Given the description of an element on the screen output the (x, y) to click on. 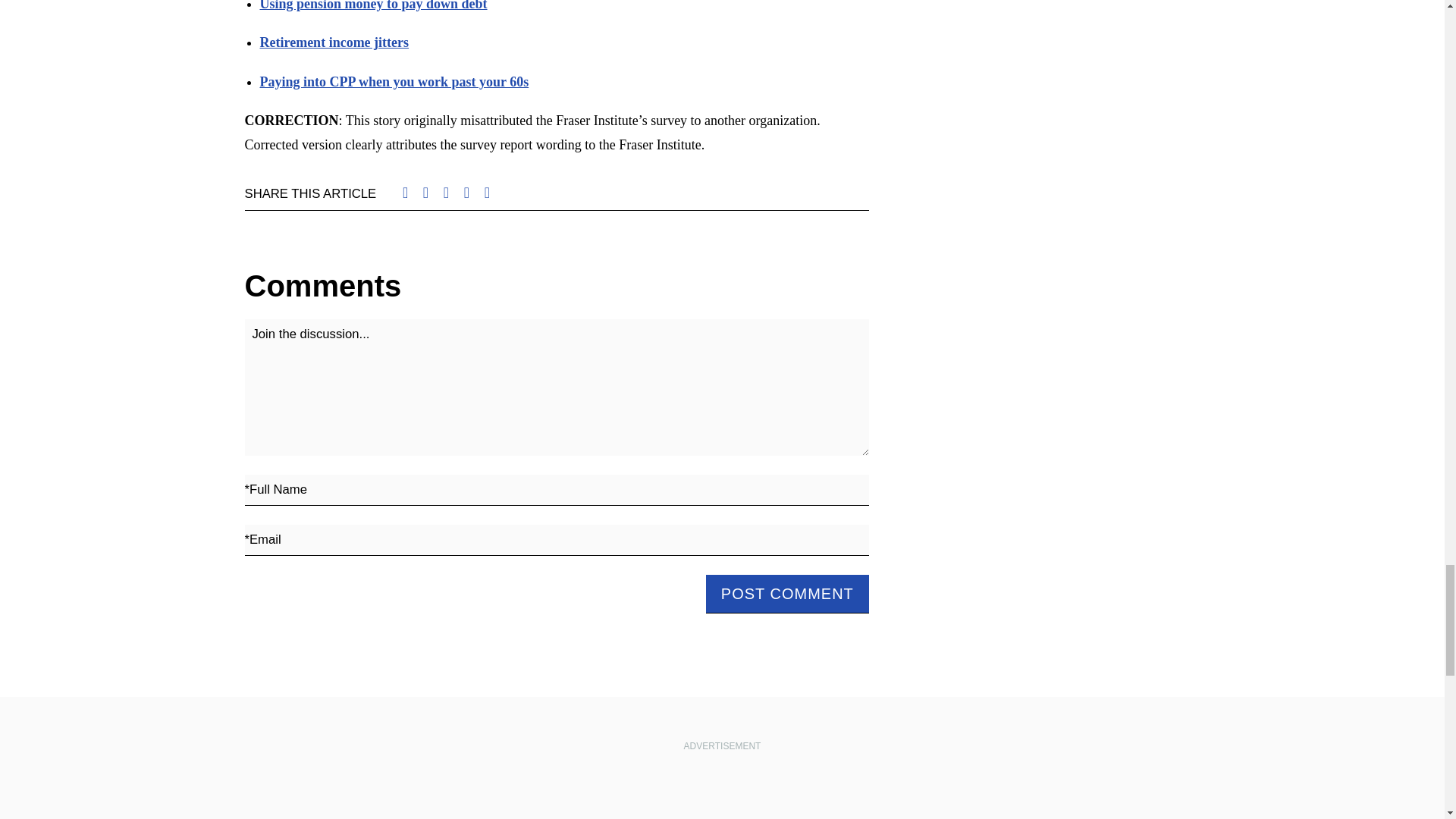
Post Comment (787, 593)
